Given the description of an element on the screen output the (x, y) to click on. 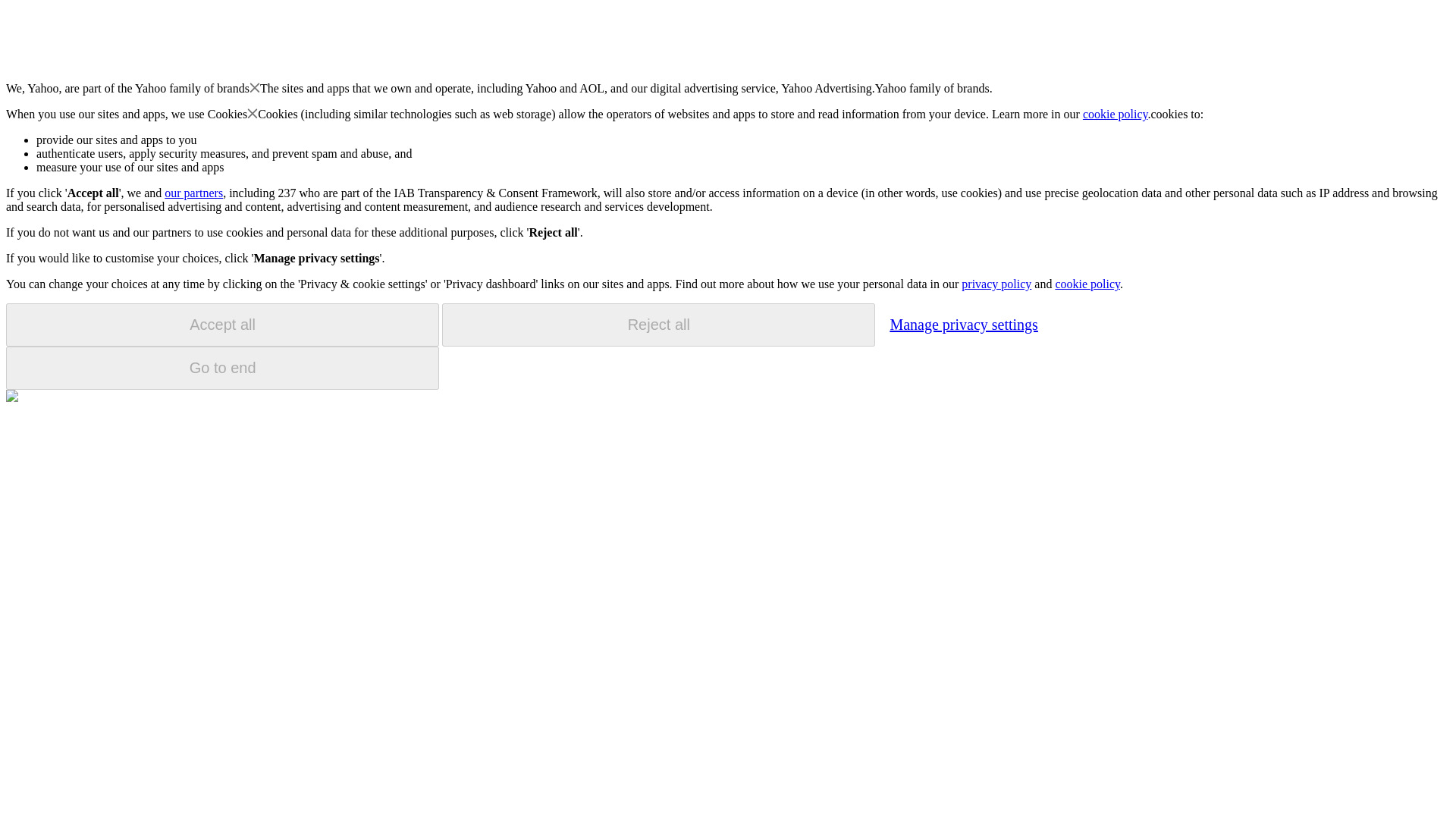
our partners (193, 192)
Go to end (222, 367)
Accept all (222, 324)
cookie policy (1115, 113)
privacy policy (995, 283)
Reject all (658, 324)
Manage privacy settings (963, 323)
cookie policy (1086, 283)
